Given the description of an element on the screen output the (x, y) to click on. 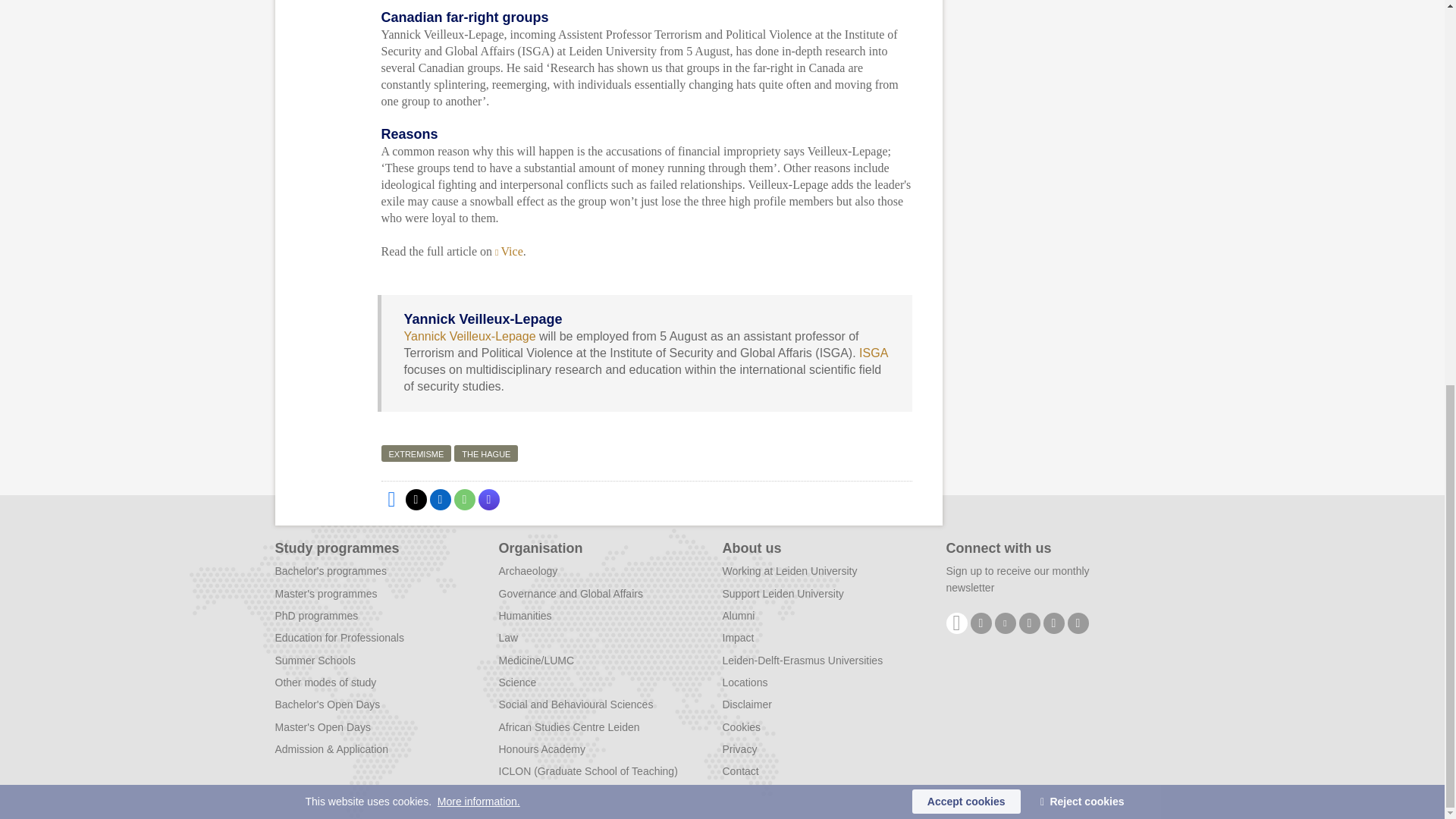
ISGA (872, 352)
Share on X (415, 499)
Share on LinkedIn (439, 499)
Yannick Veilleux-Lepage (469, 336)
EXTREMISME (415, 453)
Share on Facebook (390, 499)
Vice (508, 250)
Share by WhatsApp (463, 499)
Share by Mastodon (488, 499)
THE HAGUE (486, 453)
